Given the description of an element on the screen output the (x, y) to click on. 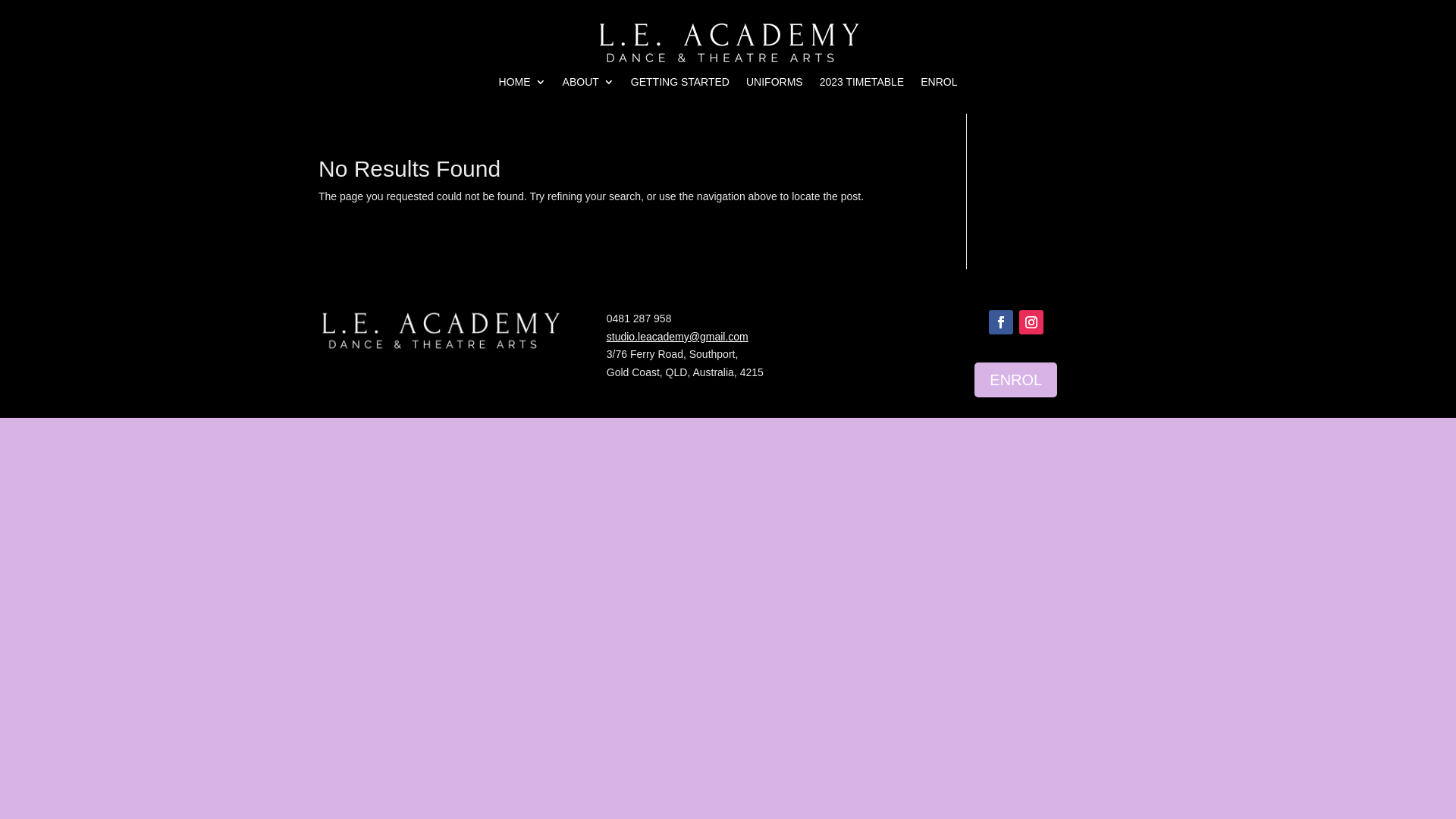
ENROL Element type: text (938, 84)
GETTING STARTED Element type: text (679, 84)
UNIFORMS Element type: text (774, 84)
ENROL Element type: text (1015, 379)
ABOUT Element type: text (588, 84)
Follow on Facebook Element type: hover (1000, 322)
studio.leacademy@gmail.com Element type: text (677, 336)
2023 TIMETABLE Element type: text (861, 84)
Follow on Instagram Element type: hover (1031, 322)
HOME Element type: text (522, 84)
